Given the description of an element on the screen output the (x, y) to click on. 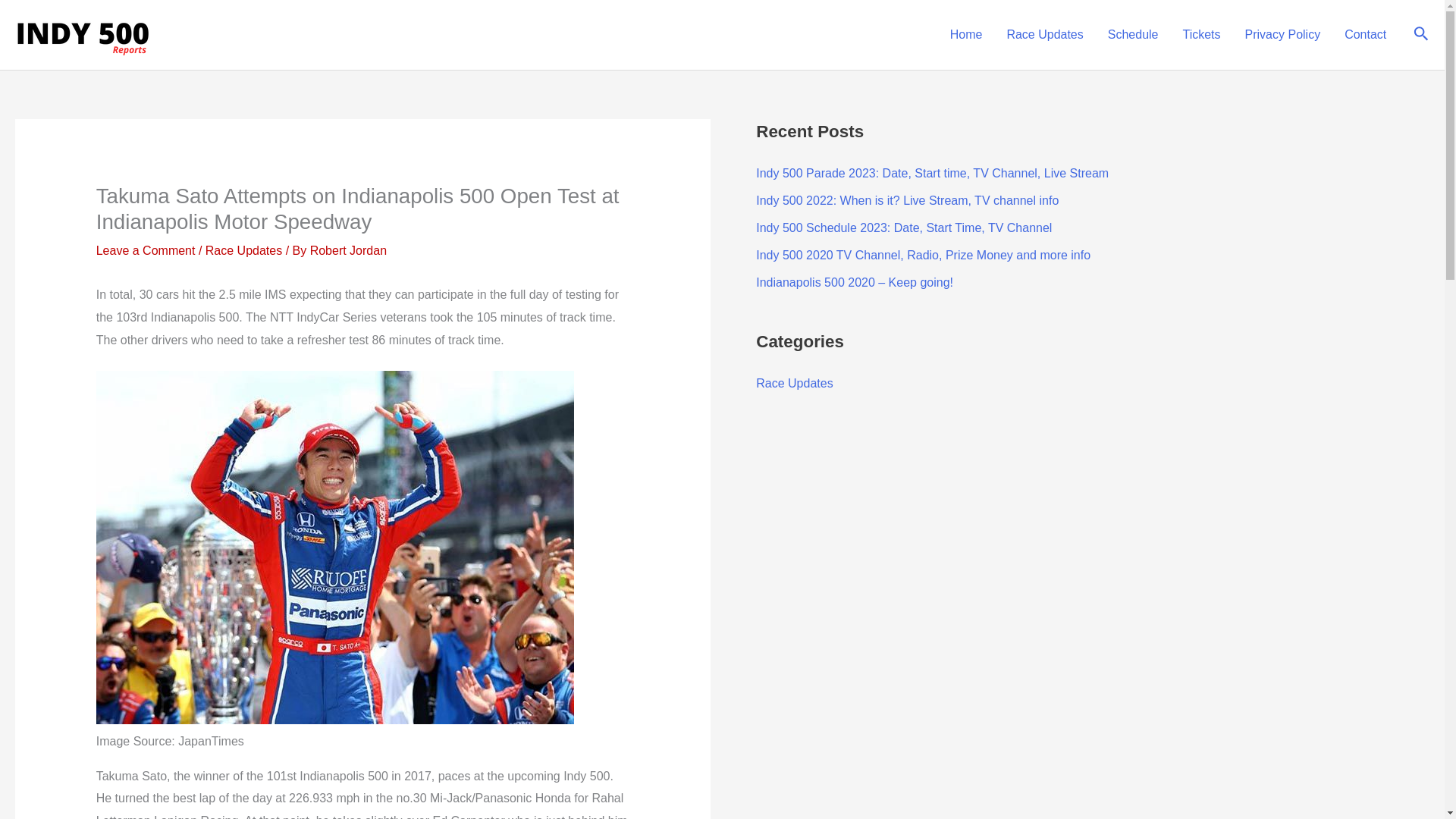
Tickets (1200, 34)
Robert Jordan (348, 250)
Contact (1364, 34)
Leave a Comment (145, 250)
Schedule (1133, 34)
Race Updates (1044, 34)
Home (965, 34)
Race Updates (793, 382)
Indy 500 Schedule 2023: Date, Start Time, TV Channel (903, 227)
